Given the description of an element on the screen output the (x, y) to click on. 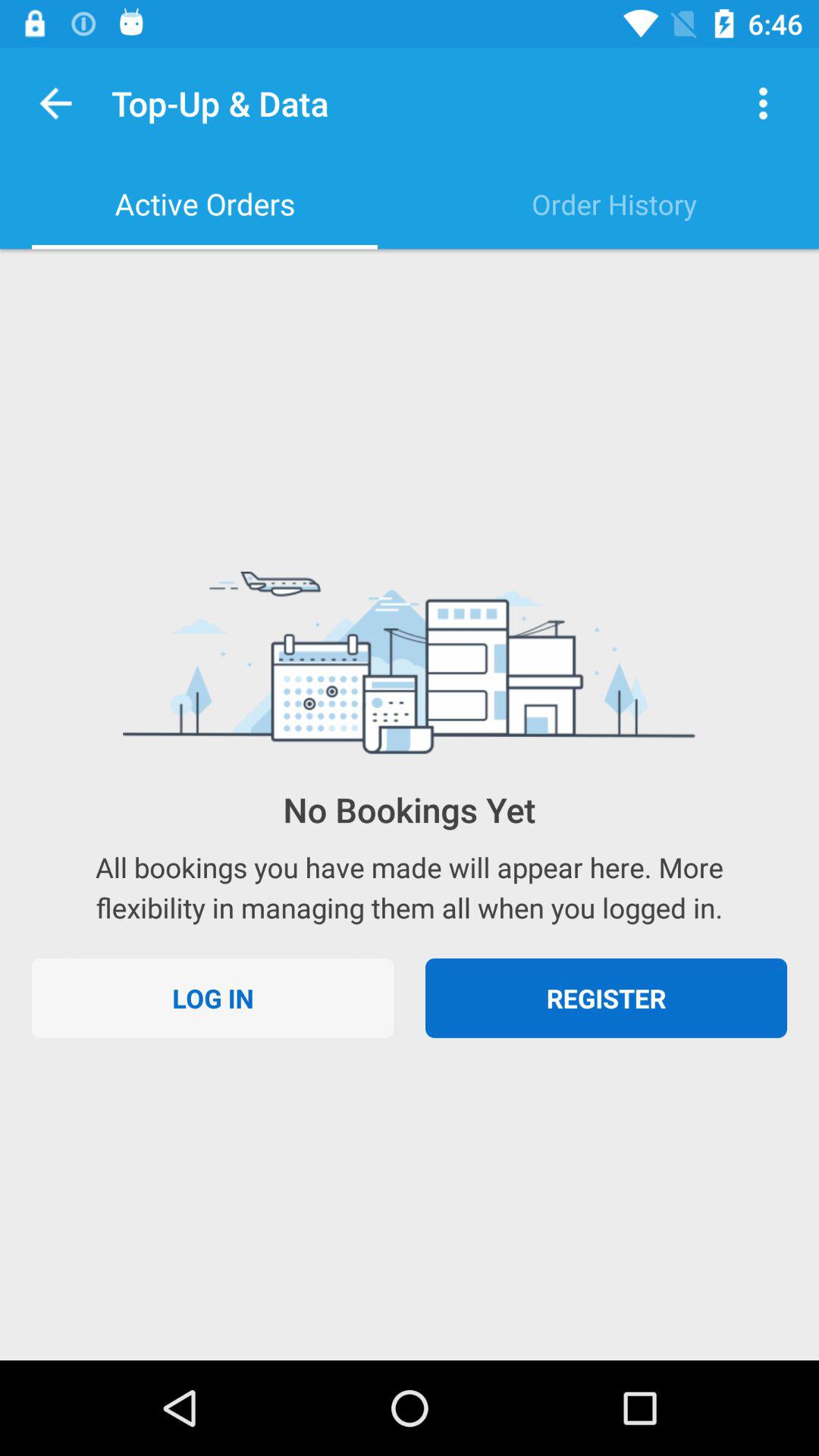
select icon below all bookings you icon (212, 997)
